Given the description of an element on the screen output the (x, y) to click on. 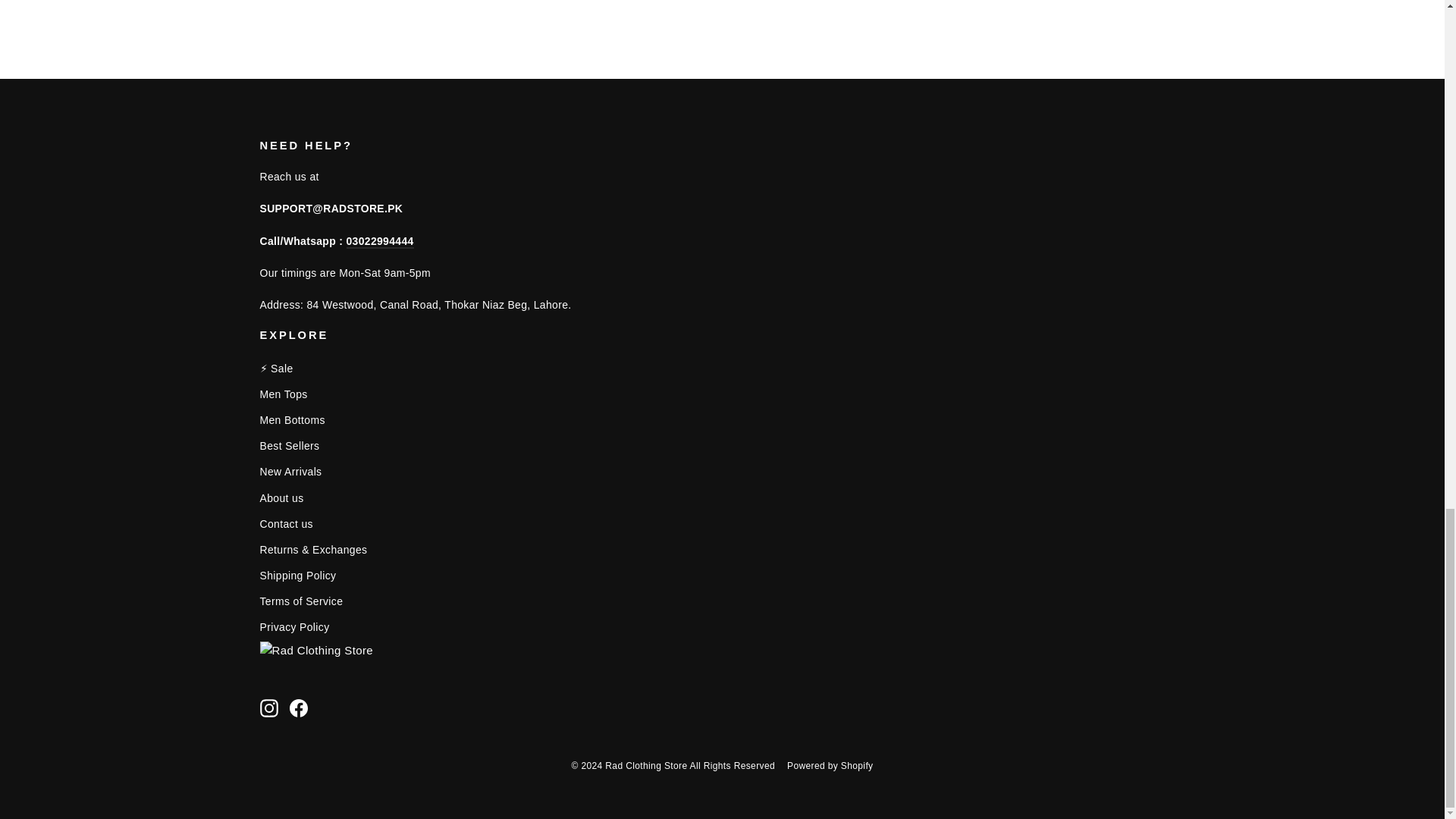
tel:03022994444 (379, 241)
Rad Clothing Store on Facebook (298, 707)
Rad Clothing Store on Instagram (268, 707)
